Given the description of an element on the screen output the (x, y) to click on. 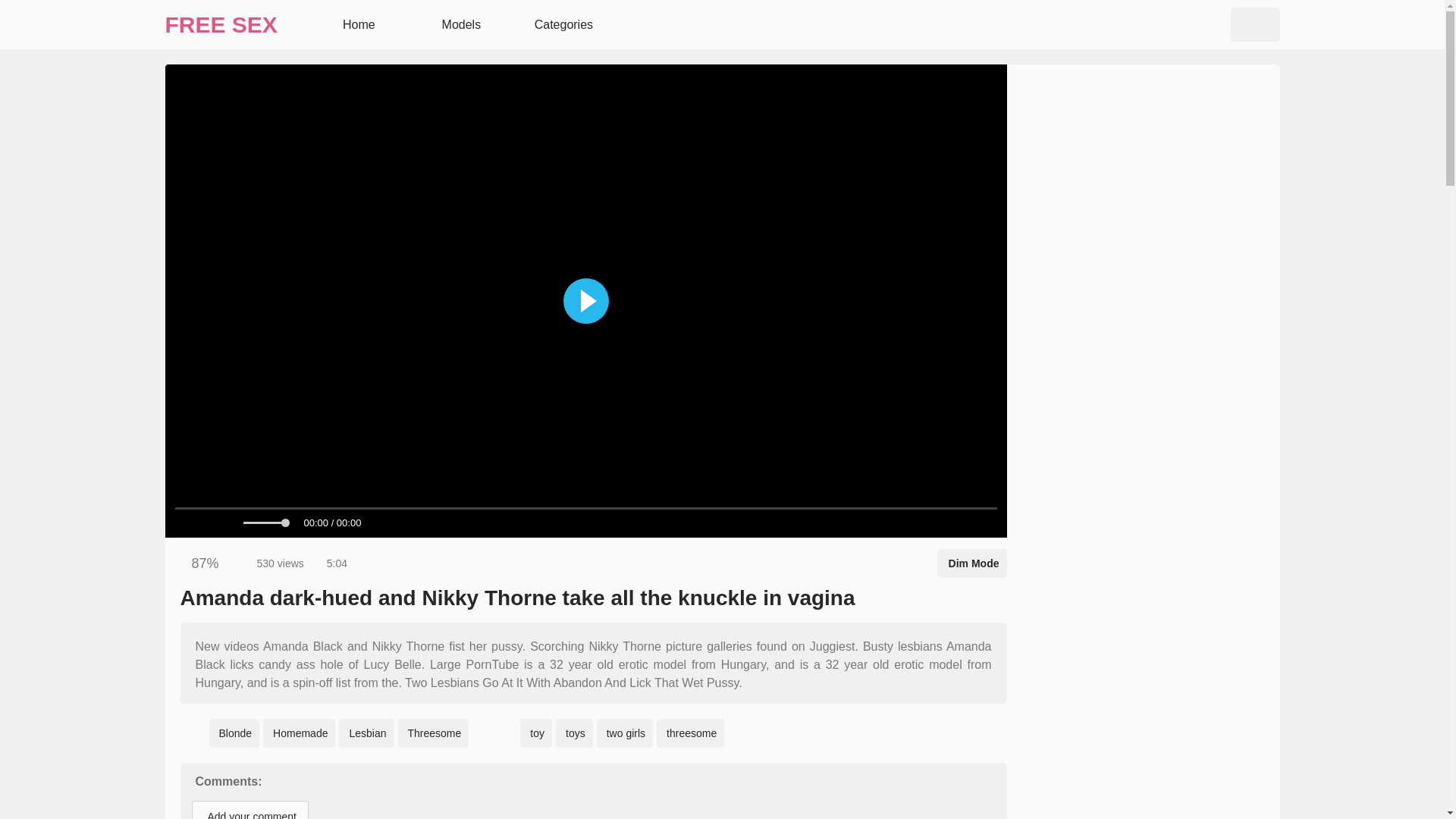
toy (535, 733)
Lesbian (366, 733)
Homemade (298, 733)
Enable Dim Mode (972, 563)
Models (459, 24)
I LIKE IT! (182, 563)
two girls (624, 733)
Blonde (234, 733)
toys (574, 733)
Models (459, 24)
Home (356, 24)
threesome (689, 733)
Threesome (432, 733)
Home (356, 24)
Categories (561, 24)
